Given the description of an element on the screen output the (x, y) to click on. 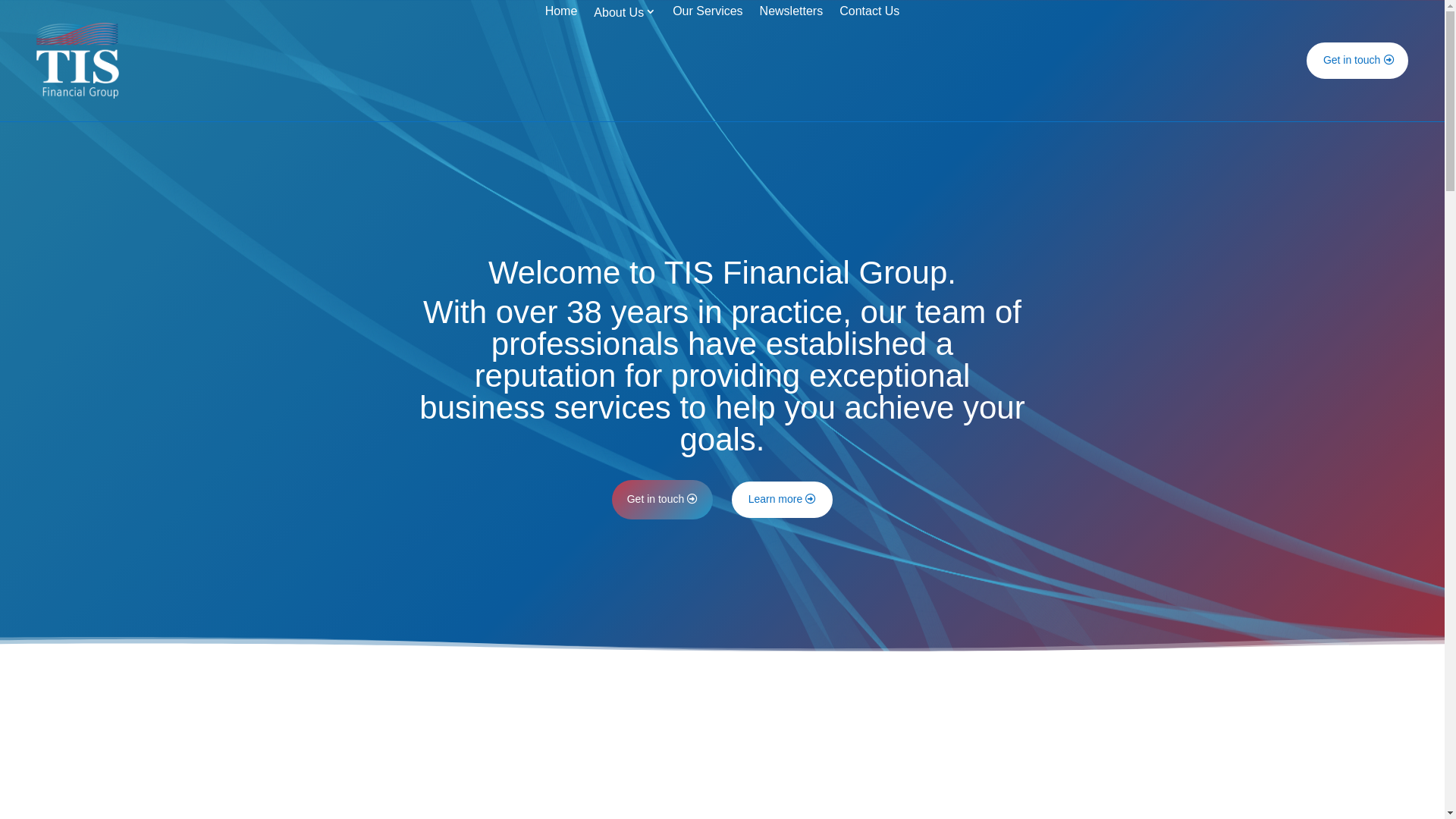
logo Element type: hover (77, 60)
Learn more Element type: text (782, 499)
About Us Element type: text (624, 63)
Newsletters Element type: text (791, 63)
Get in touch Element type: text (1357, 60)
Our Services Element type: text (707, 63)
Contact Us Element type: text (869, 63)
Get in touch Element type: text (662, 499)
Home Element type: text (561, 63)
